Given the description of an element on the screen output the (x, y) to click on. 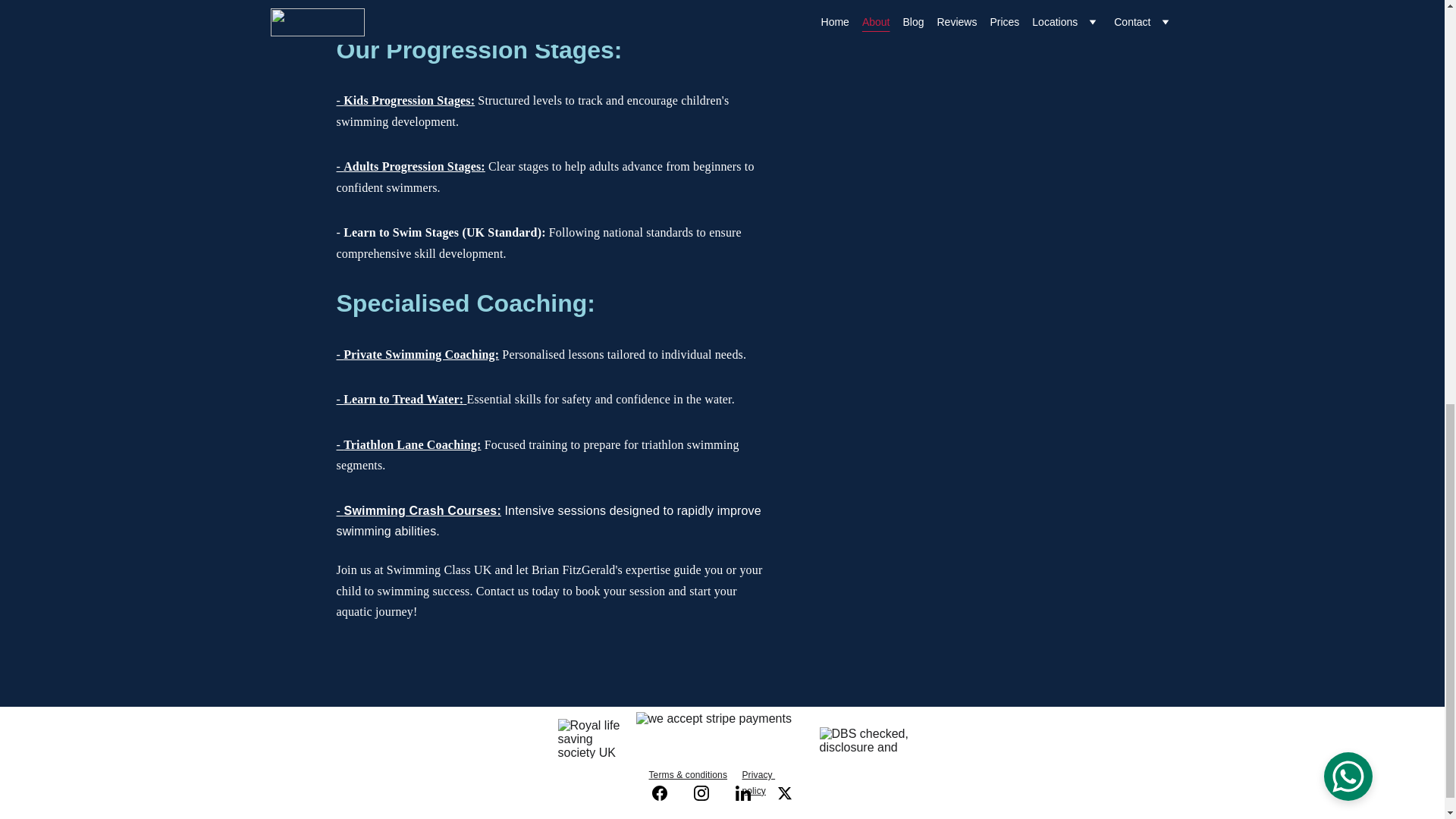
we accept stripe payments (721, 737)
Go to Instagram page (708, 792)
Go to Linkedin-in page (750, 792)
Royal life saving society UK (590, 738)
Go to Twitter page (784, 792)
DBS checked, disclosure and barring service (864, 741)
Go to Facebook page (667, 792)
